Given the description of an element on the screen output the (x, y) to click on. 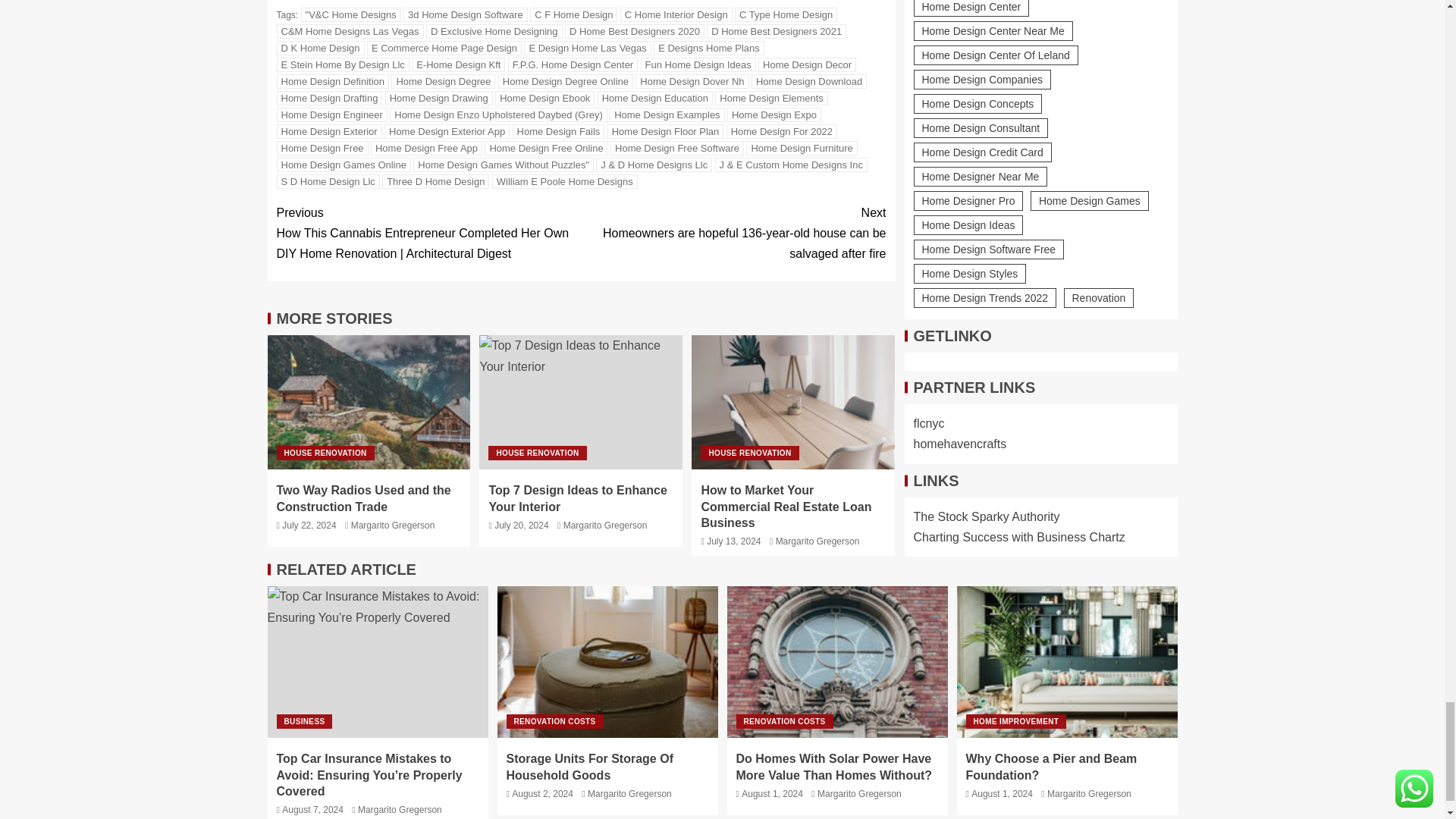
D Home Best Designers 2020 (634, 31)
How to Market Your Commercial Real Estate Loan Business (793, 401)
C Type Home Design (786, 14)
3d Home Design Software (465, 14)
C Home Interior Design (676, 14)
D Exclusive Home Designing (494, 31)
Two Way Radios Used and the Construction Trade (368, 401)
Top 7 Design Ideas to Enhance Your Interior (580, 401)
C F Home Design (573, 14)
D Home Best Designers 2021 (775, 31)
